Given the description of an element on the screen output the (x, y) to click on. 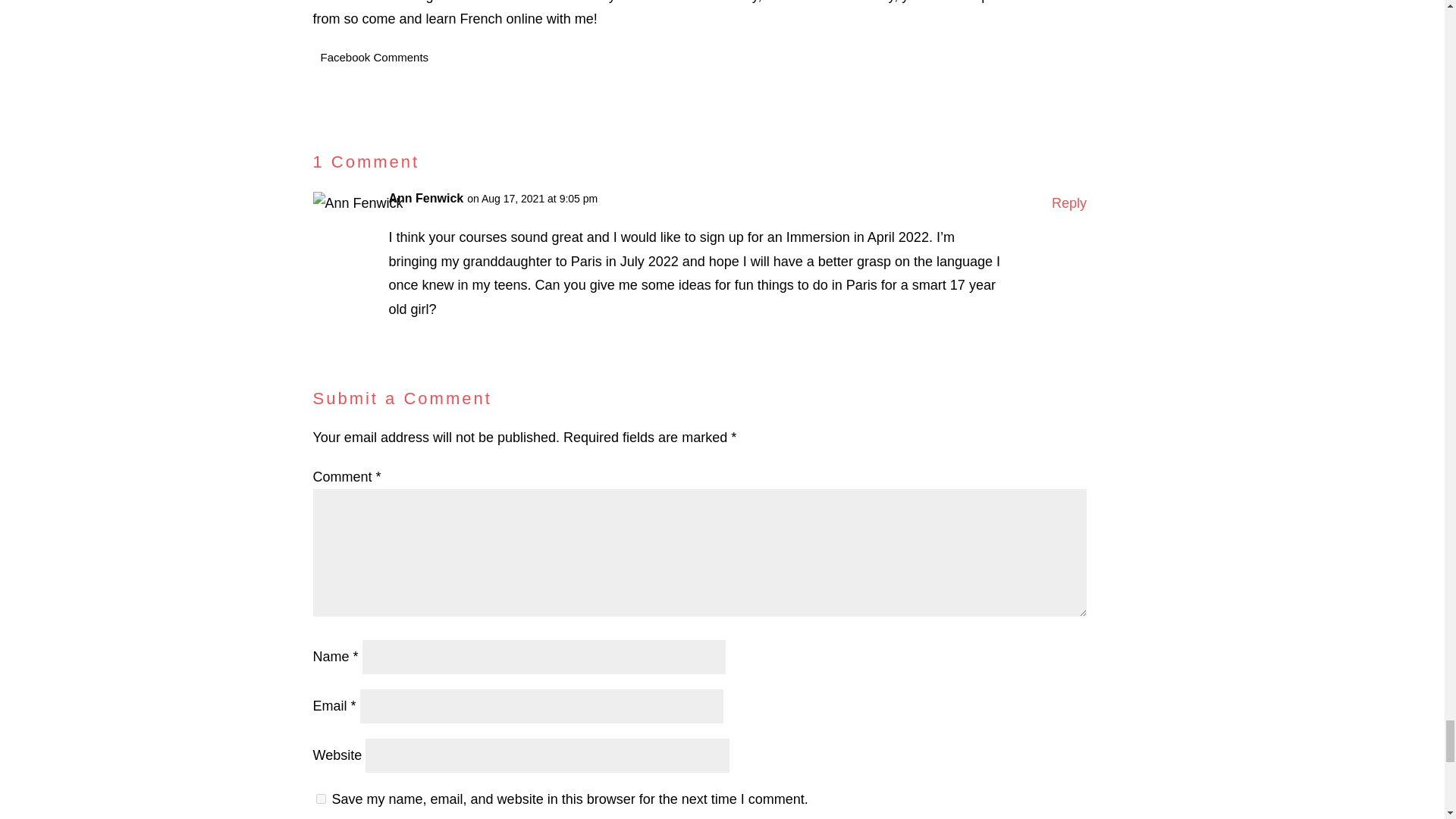
Reply (1068, 203)
yes (319, 798)
